Given the description of an element on the screen output the (x, y) to click on. 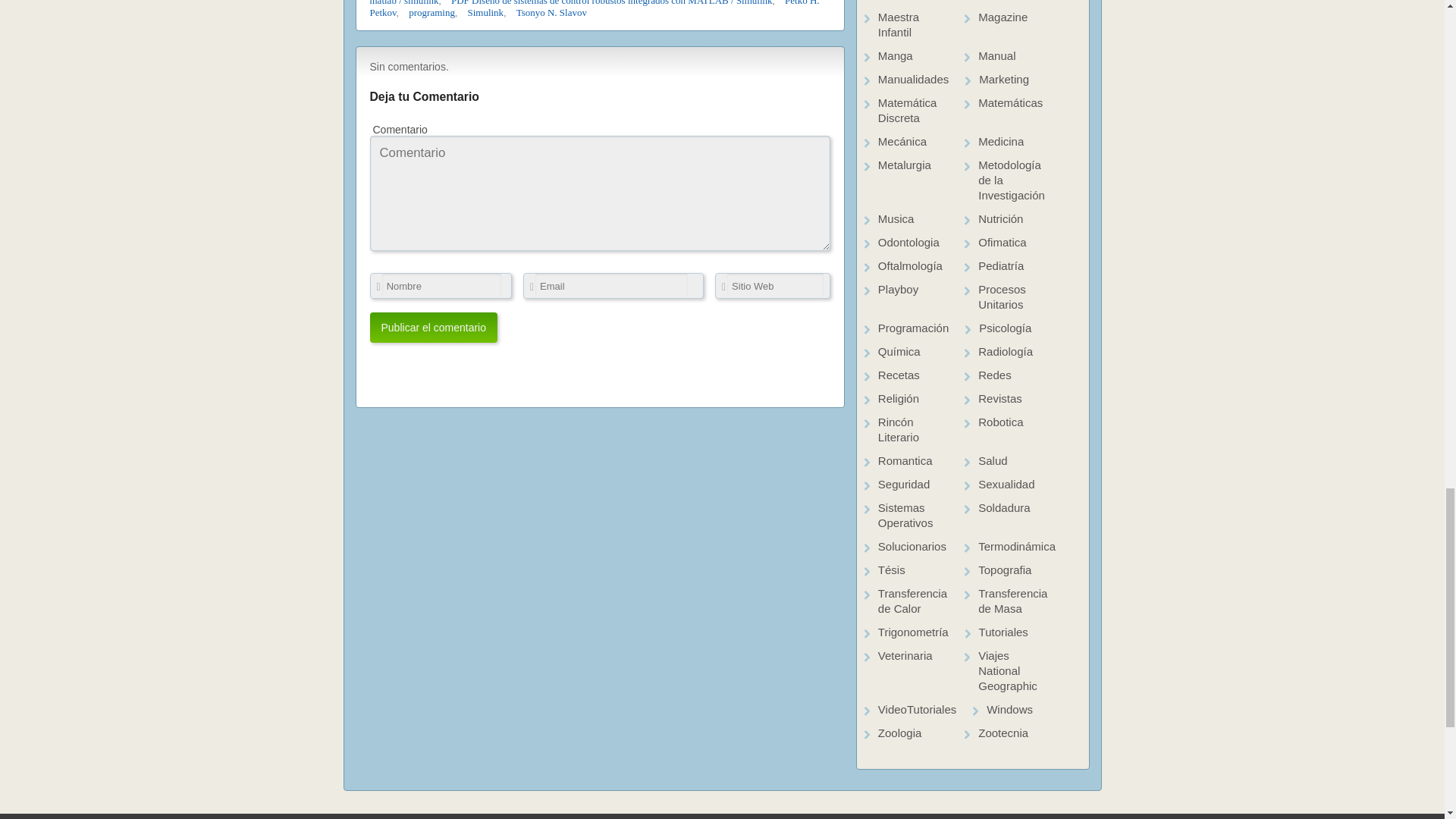
Publicar el comentario (433, 327)
